Given the description of an element on the screen output the (x, y) to click on. 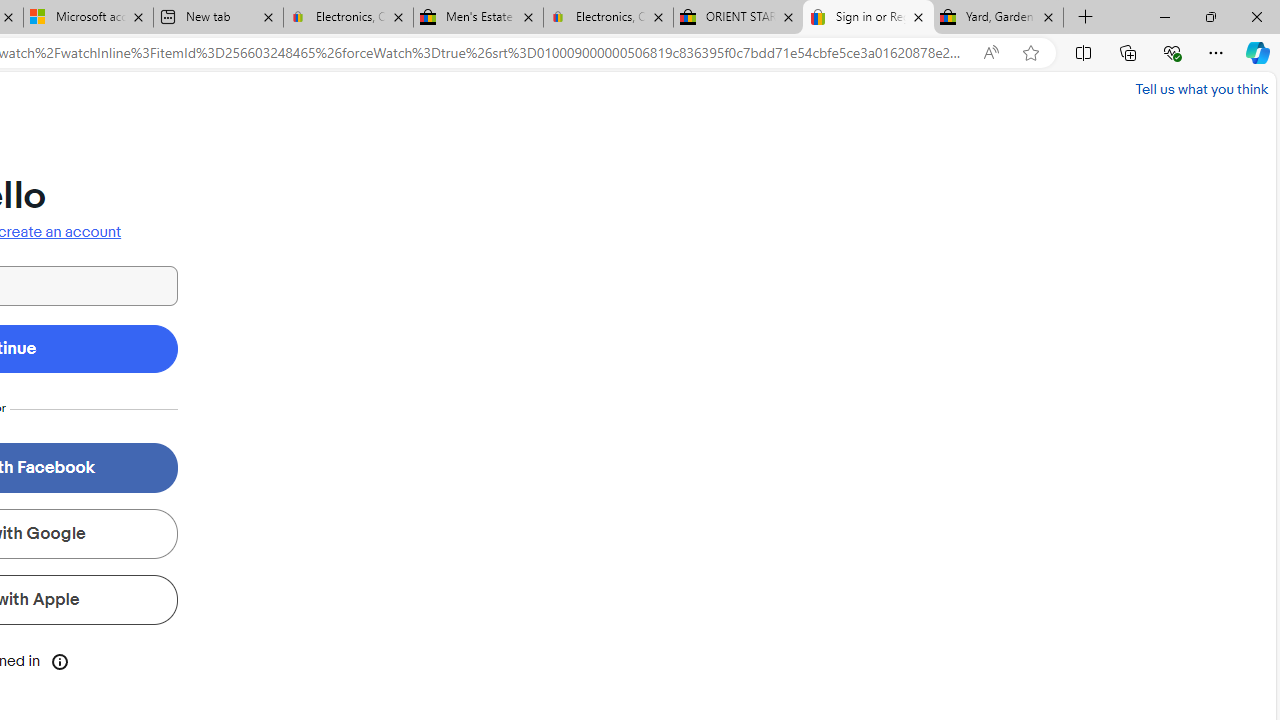
Microsoft account | Account Checkup (88, 17)
Yard, Garden & Outdoor Living (998, 17)
Sign in or Register | eBay (868, 17)
Class: icon-btn tooltip__host icon-btn--transparent (59, 660)
Tell us what you think - Link opens in a new window (1201, 88)
